Given the description of an element on the screen output the (x, y) to click on. 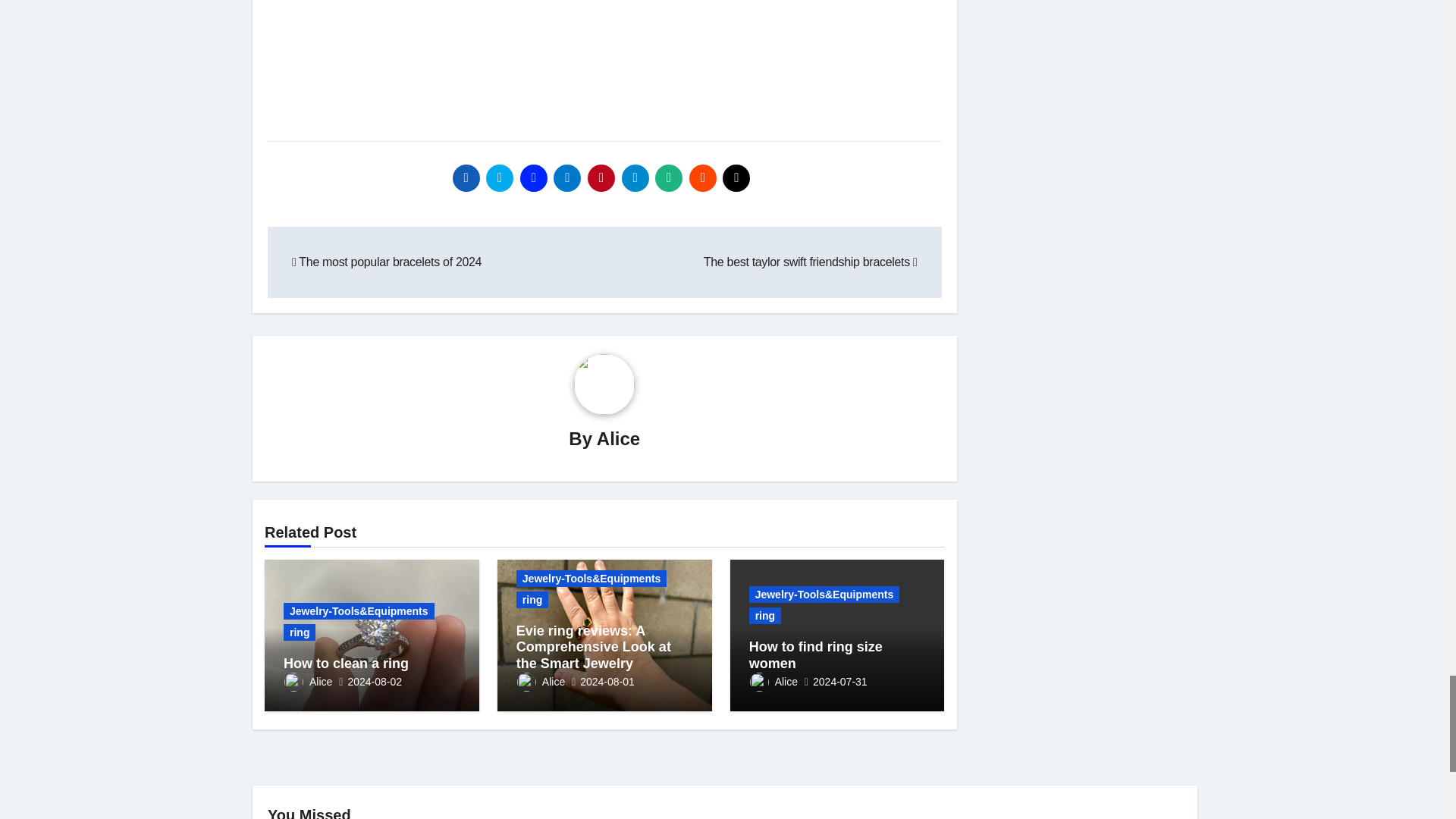
Permalink to: How to clean a ring (346, 663)
Permalink to: How to find ring size women (815, 654)
